Given the description of an element on the screen output the (x, y) to click on. 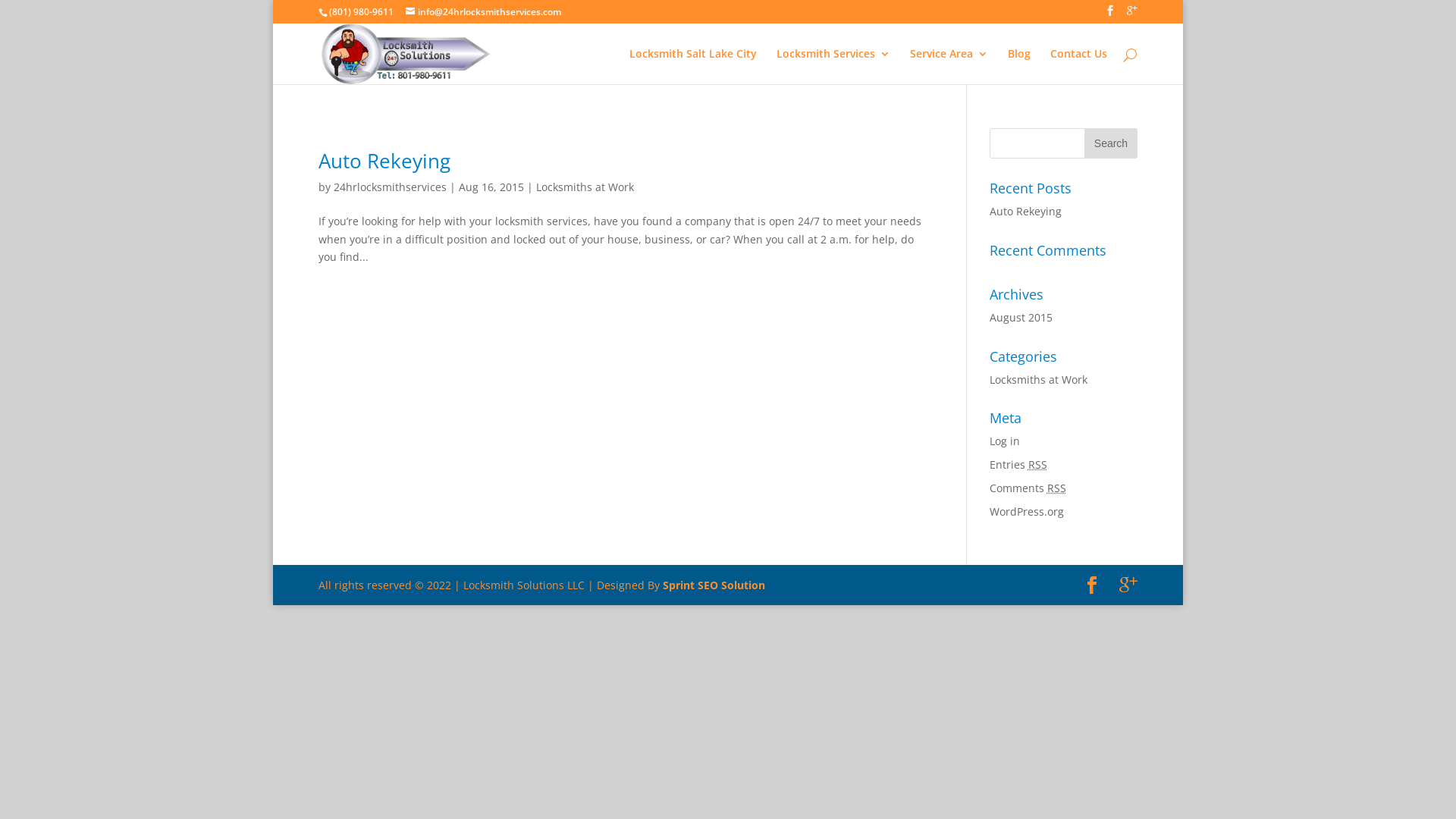
info@24hrlocksmithservices.com Element type: text (483, 11)
Contact Us Element type: text (1078, 66)
Entries RSS Element type: text (1018, 464)
Locksmith Salt Lake City Element type: text (692, 66)
Locksmiths at Work Element type: text (584, 186)
Sprint SEO Solution Element type: text (713, 584)
Comments RSS Element type: text (1027, 487)
Service Area Element type: text (949, 66)
Blog Element type: text (1018, 66)
Locksmiths at Work Element type: text (1038, 379)
Log in Element type: text (1004, 440)
Search Element type: text (1110, 143)
August 2015 Element type: text (1020, 317)
Auto Rekeying Element type: text (384, 160)
24hrlocksmithservices Element type: text (389, 186)
Locksmith Services Element type: text (833, 66)
Auto Rekeying Element type: text (1025, 210)
WordPress.org Element type: text (1026, 511)
